Given the description of an element on the screen output the (x, y) to click on. 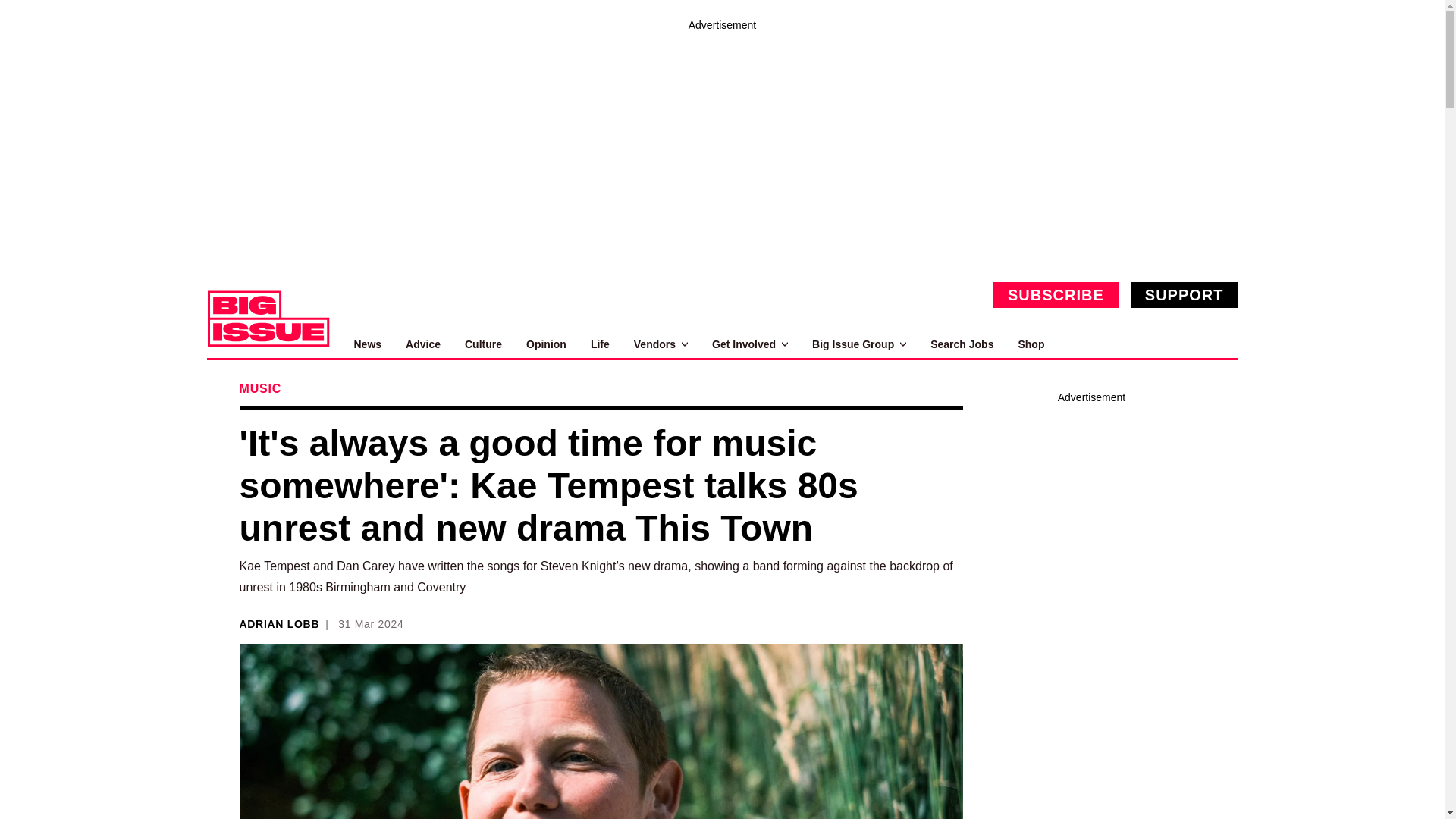
Search (1220, 344)
Big Issue Group (858, 344)
SUPPORT (1185, 294)
Get Involved (749, 344)
Vendors (660, 344)
Subscribe (1055, 294)
Opinion (545, 344)
Search Jobs (961, 344)
Advice (423, 344)
Support (1185, 294)
Culture (483, 344)
SUBSCRIBE (1055, 294)
